Given the description of an element on the screen output the (x, y) to click on. 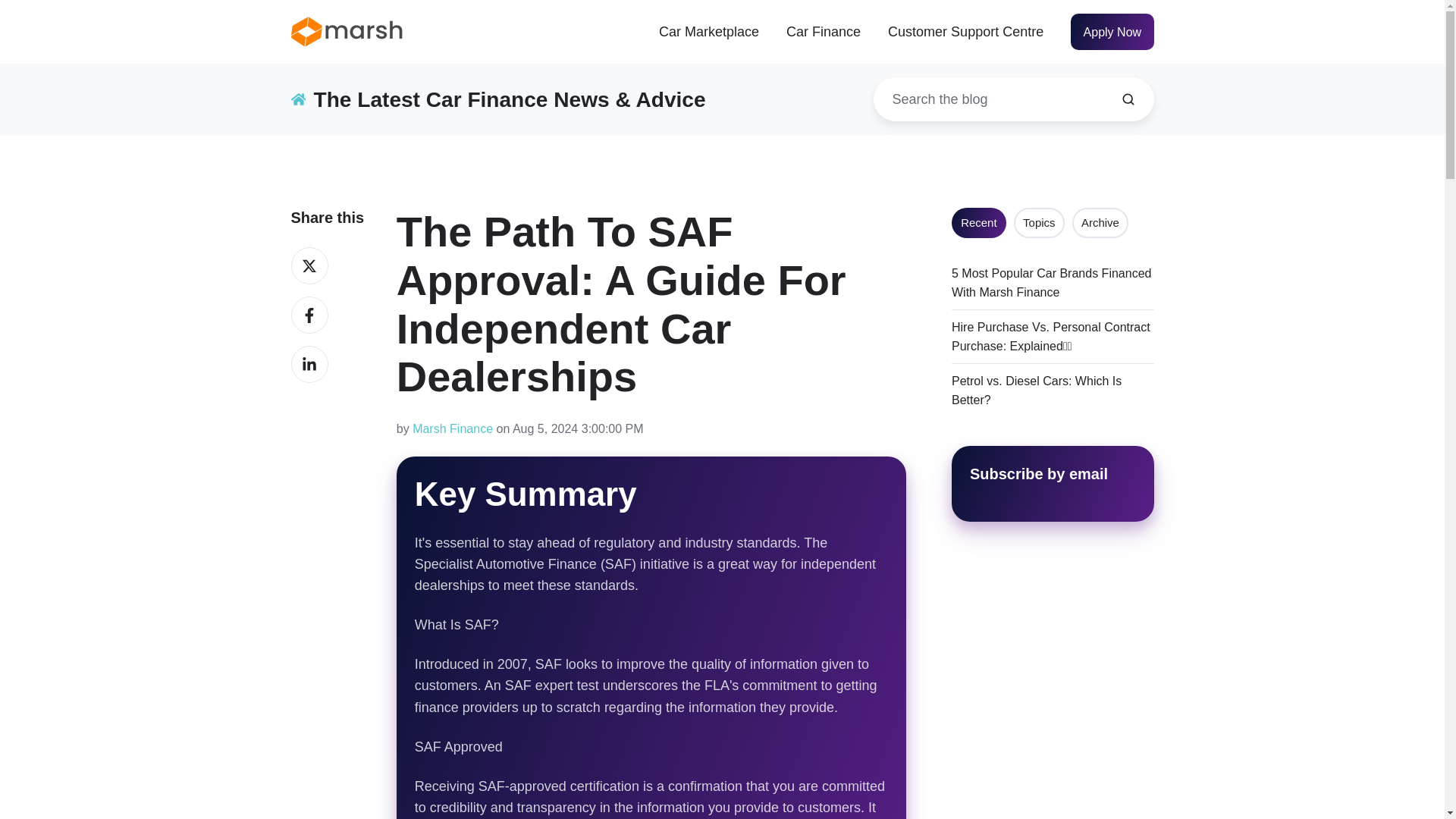
Apply Now (1111, 31)
Marsh Finance logo (347, 31)
Car Finance (823, 31)
Car Marketplace (708, 31)
Search the blog (1128, 99)
Customer Support Centre (965, 31)
Share on Twitter (310, 265)
